Given the description of an element on the screen output the (x, y) to click on. 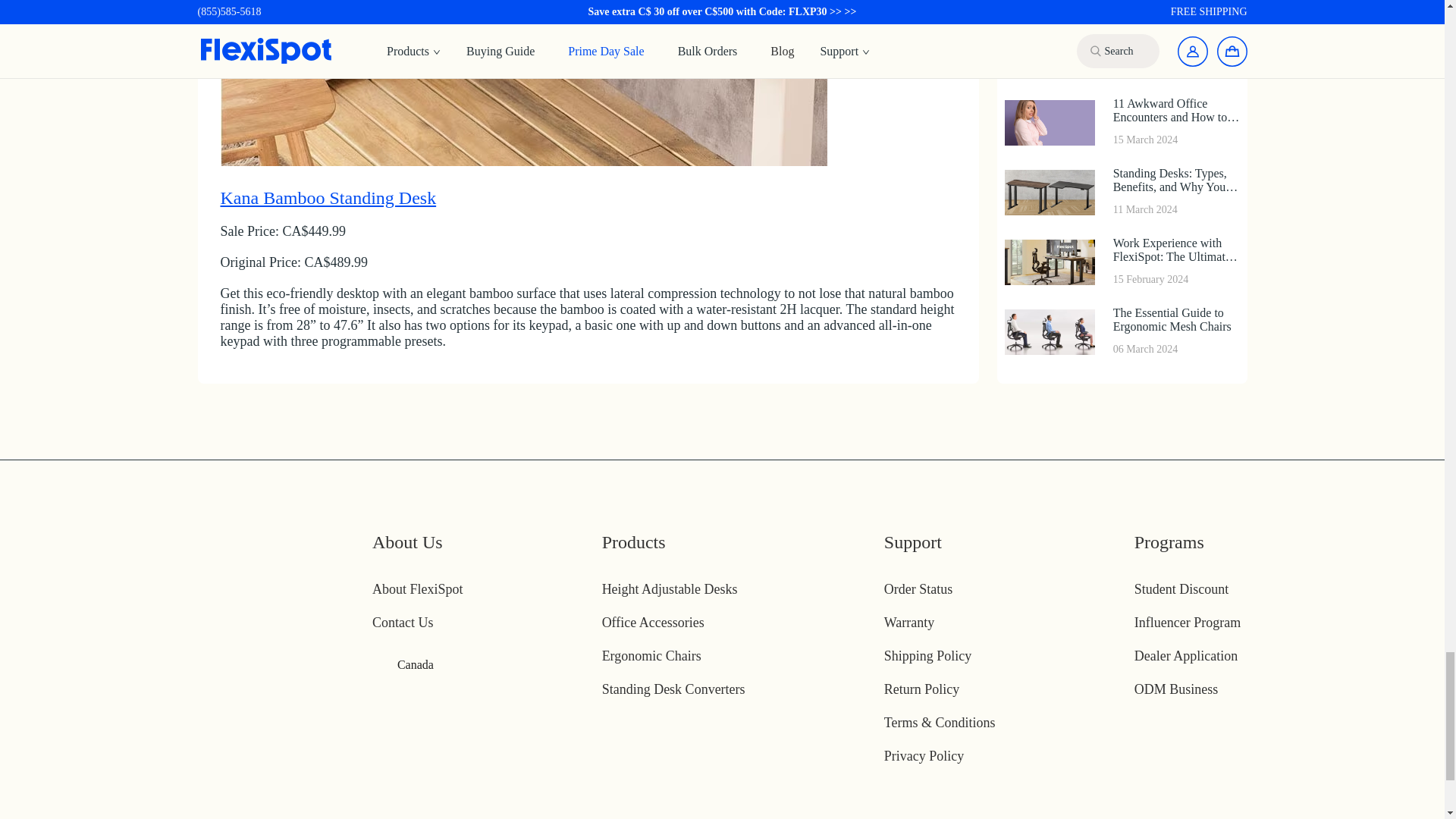
Shipping Policy (927, 655)
Order Status (917, 589)
Height Adjustable Desks (670, 589)
Contact Us (402, 622)
Standing Desk Converters (673, 688)
Kana Bamboo Standing Desk (523, 104)
Ergonomic Chairs (651, 655)
About FlexiSpot (417, 589)
Warranty (908, 622)
Office Accessories (653, 622)
